Given the description of an element on the screen output the (x, y) to click on. 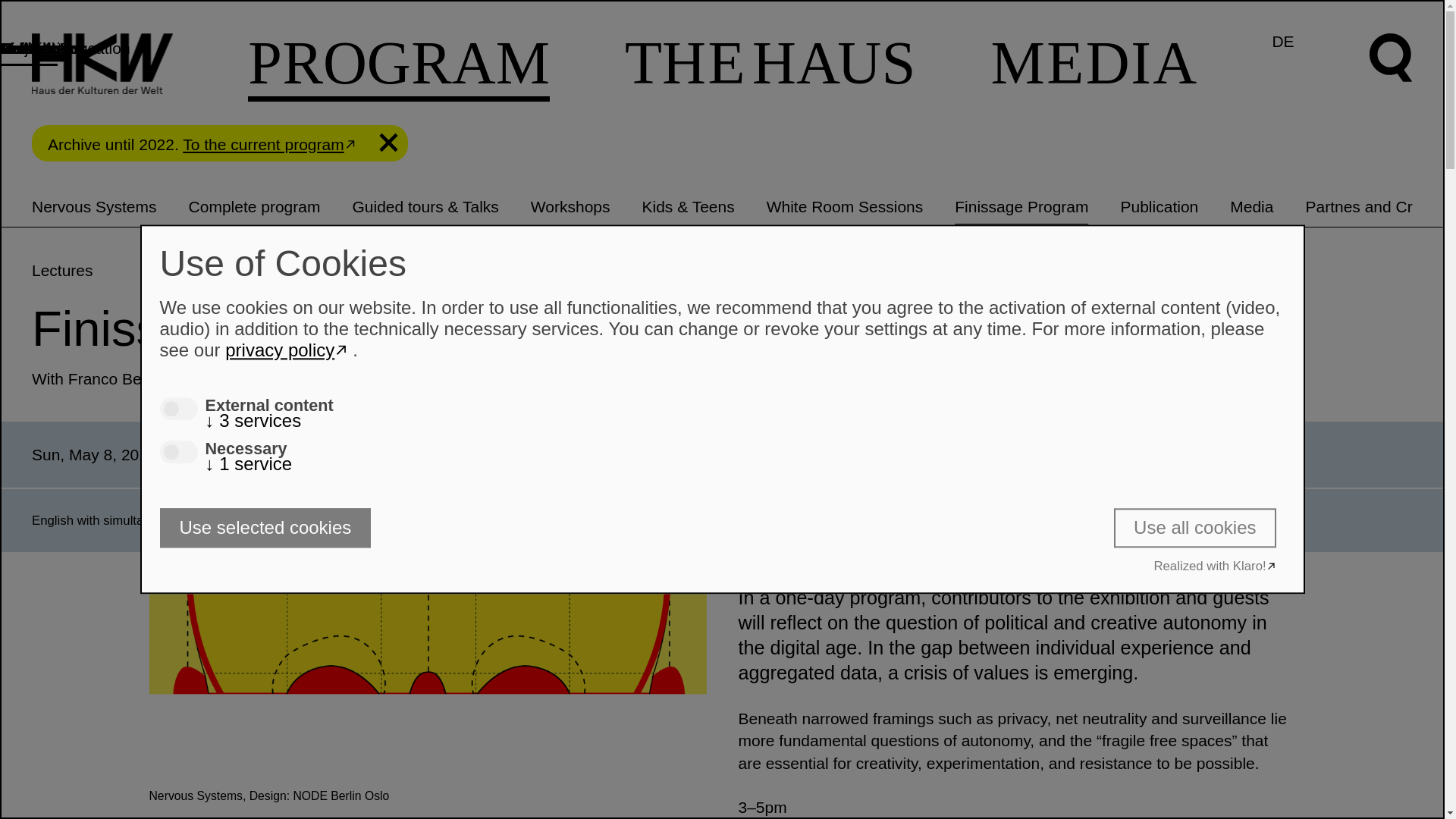
PROGRAM (398, 65)
Documents (40, 47)
Press (20, 47)
Mediathek (37, 47)
Publications (42, 47)
Team (19, 47)
Architecture (42, 47)
Videos (24, 47)
Workshops (570, 206)
DE (1282, 40)
